Given the description of an element on the screen output the (x, y) to click on. 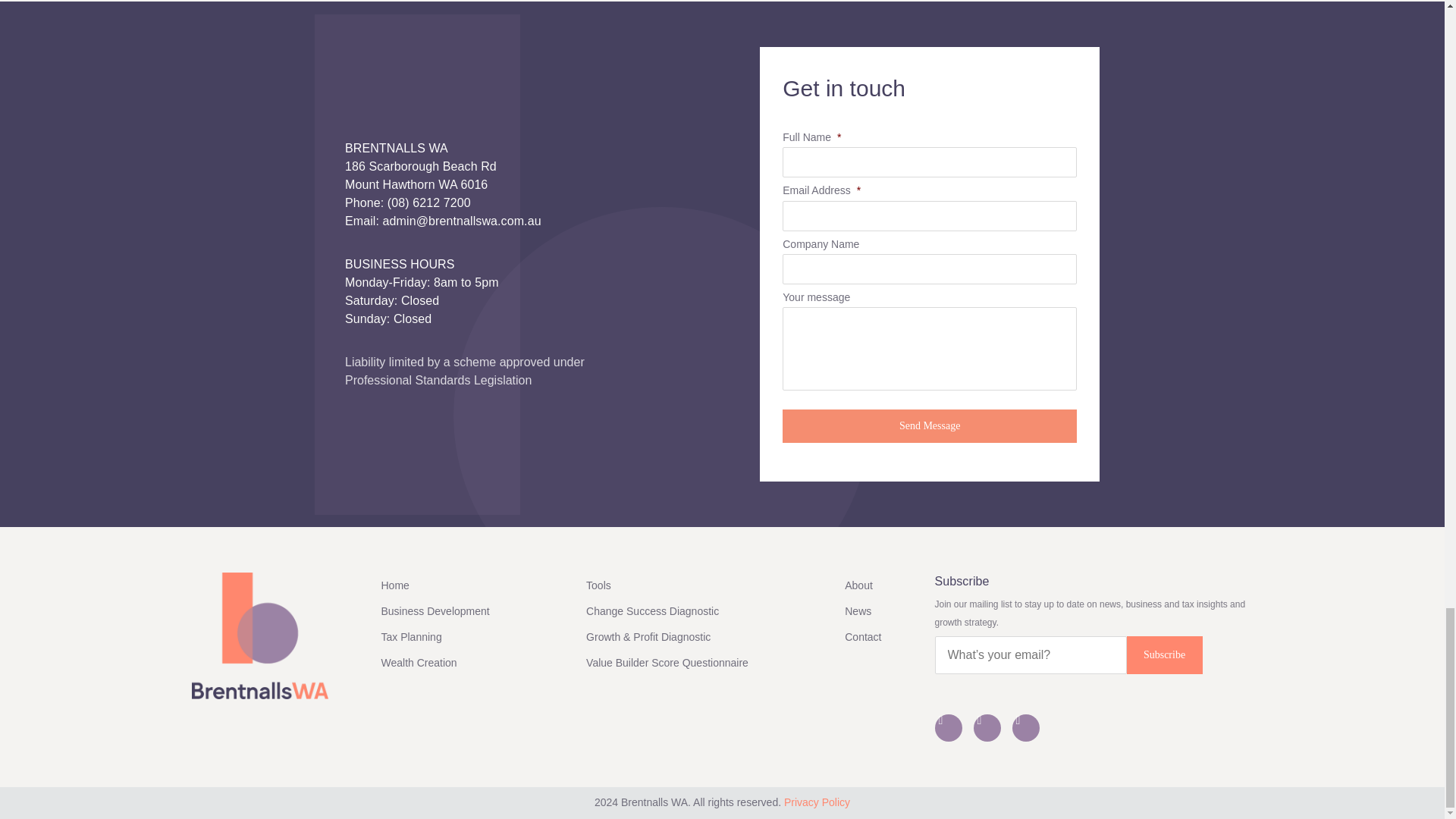
Subscribe (1164, 655)
Send Message (930, 425)
